Given the description of an element on the screen output the (x, y) to click on. 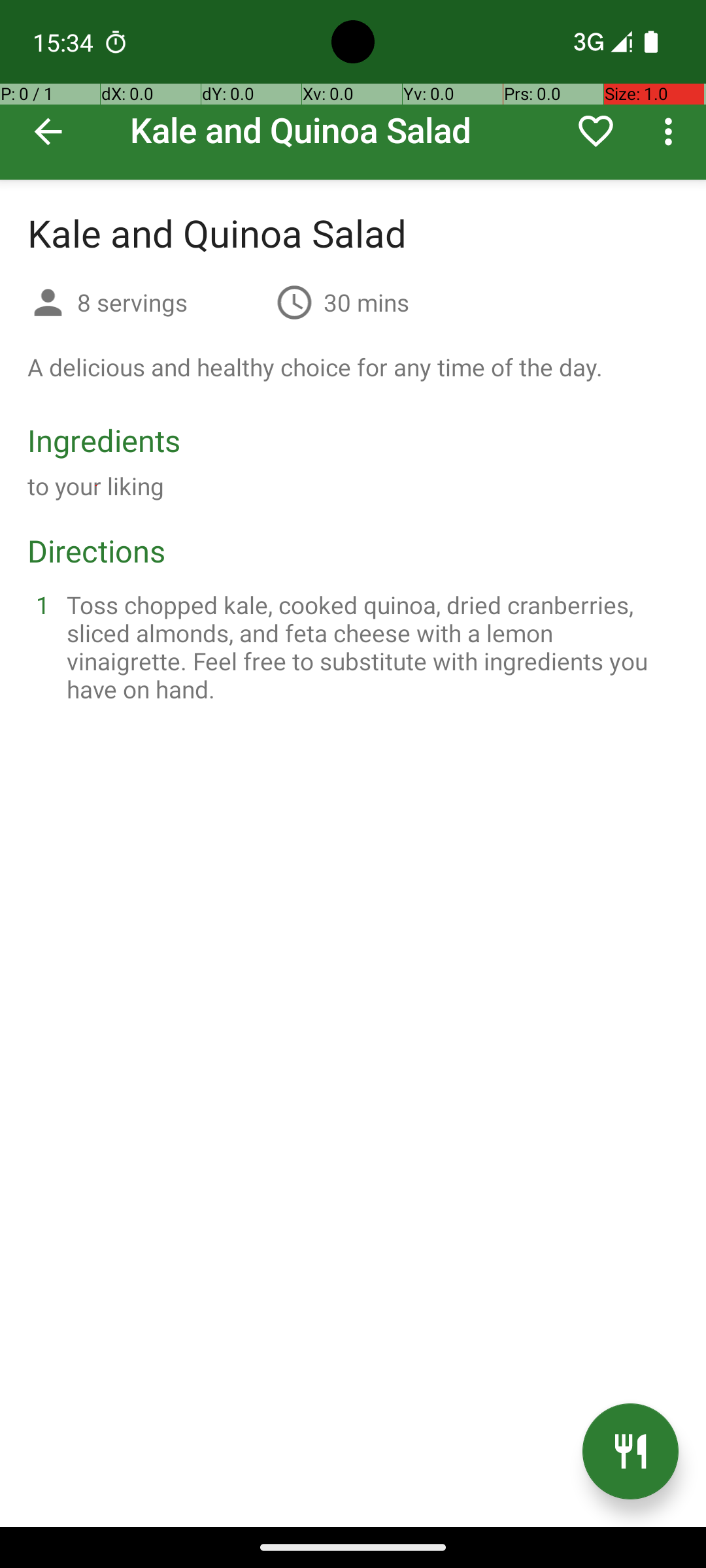
Toss chopped kale, cooked quinoa, dried cranberries, sliced almonds, and feta cheese with a lemon vinaigrette. Feel free to substitute with ingredients you have on hand. Element type: android.widget.TextView (368, 646)
